Given the description of an element on the screen output the (x, y) to click on. 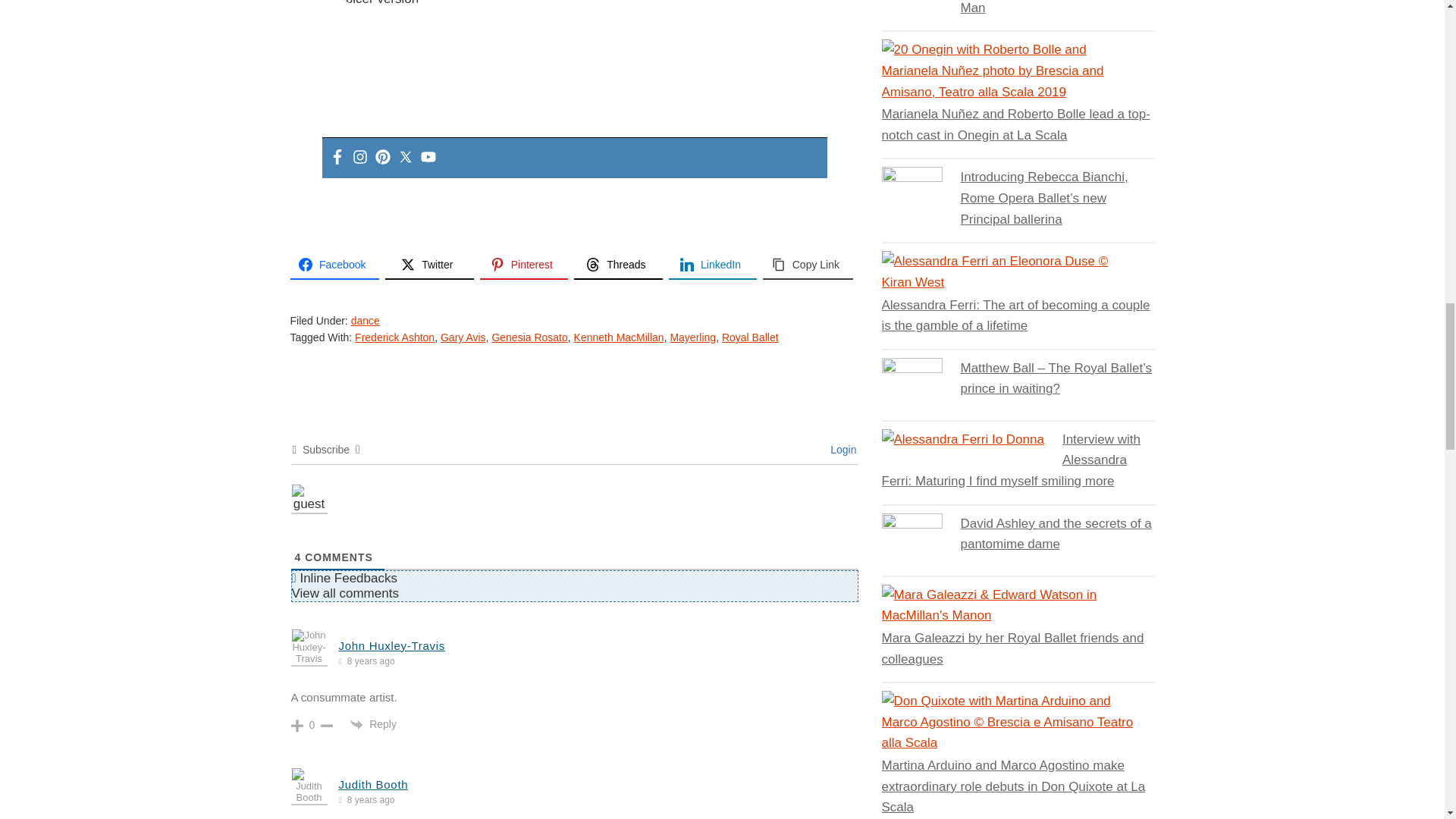
Facebook (333, 265)
Graham Spicer version (382, 4)
Facebook (336, 158)
Pinterest (524, 265)
Threads (617, 265)
Twitter (429, 265)
